Given the description of an element on the screen output the (x, y) to click on. 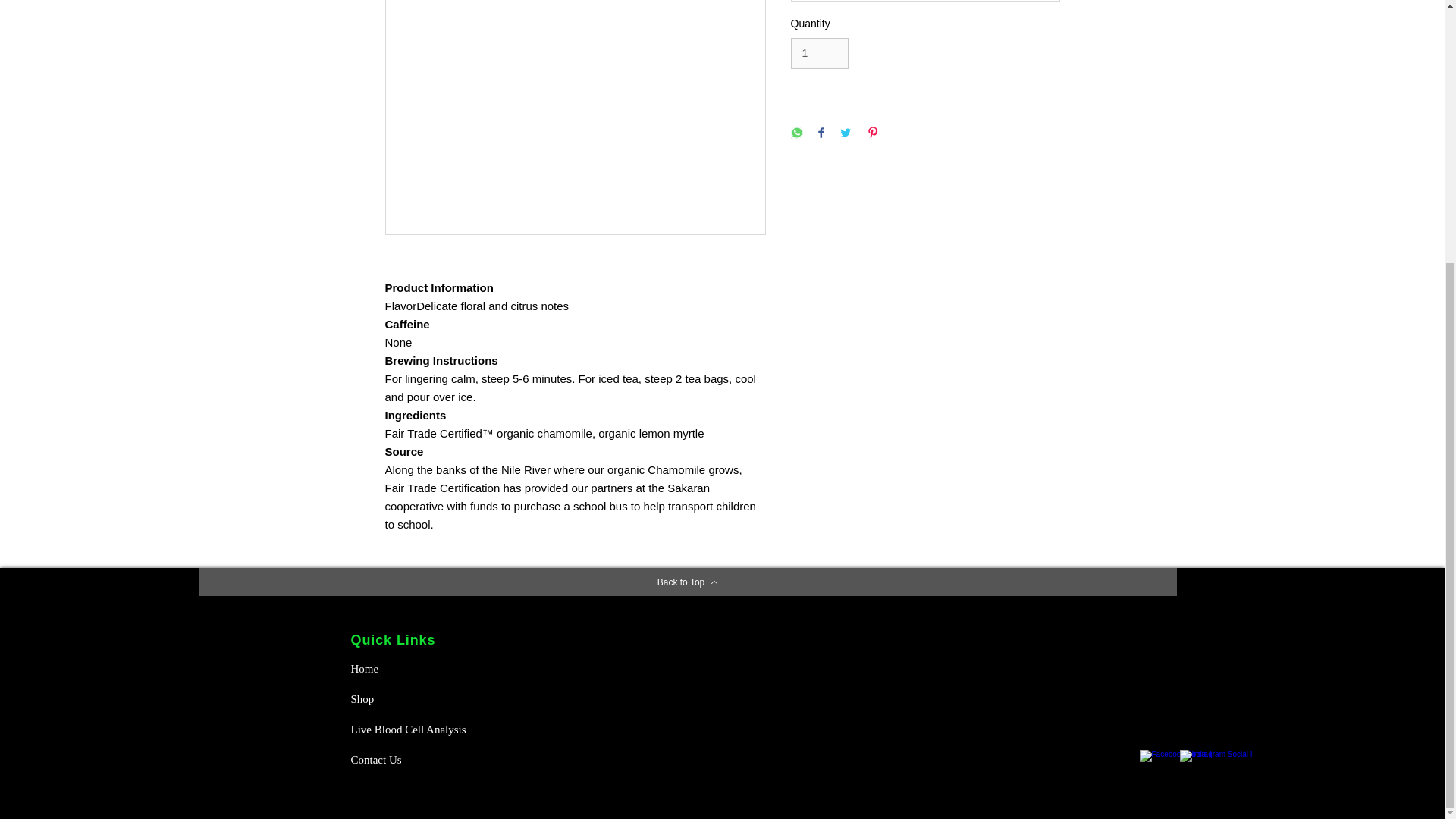
Contact Us (403, 759)
Live Blood Cell Analysis (412, 729)
Back to Top (687, 582)
1 (818, 52)
Home (403, 668)
Shop (403, 698)
